Given the description of an element on the screen output the (x, y) to click on. 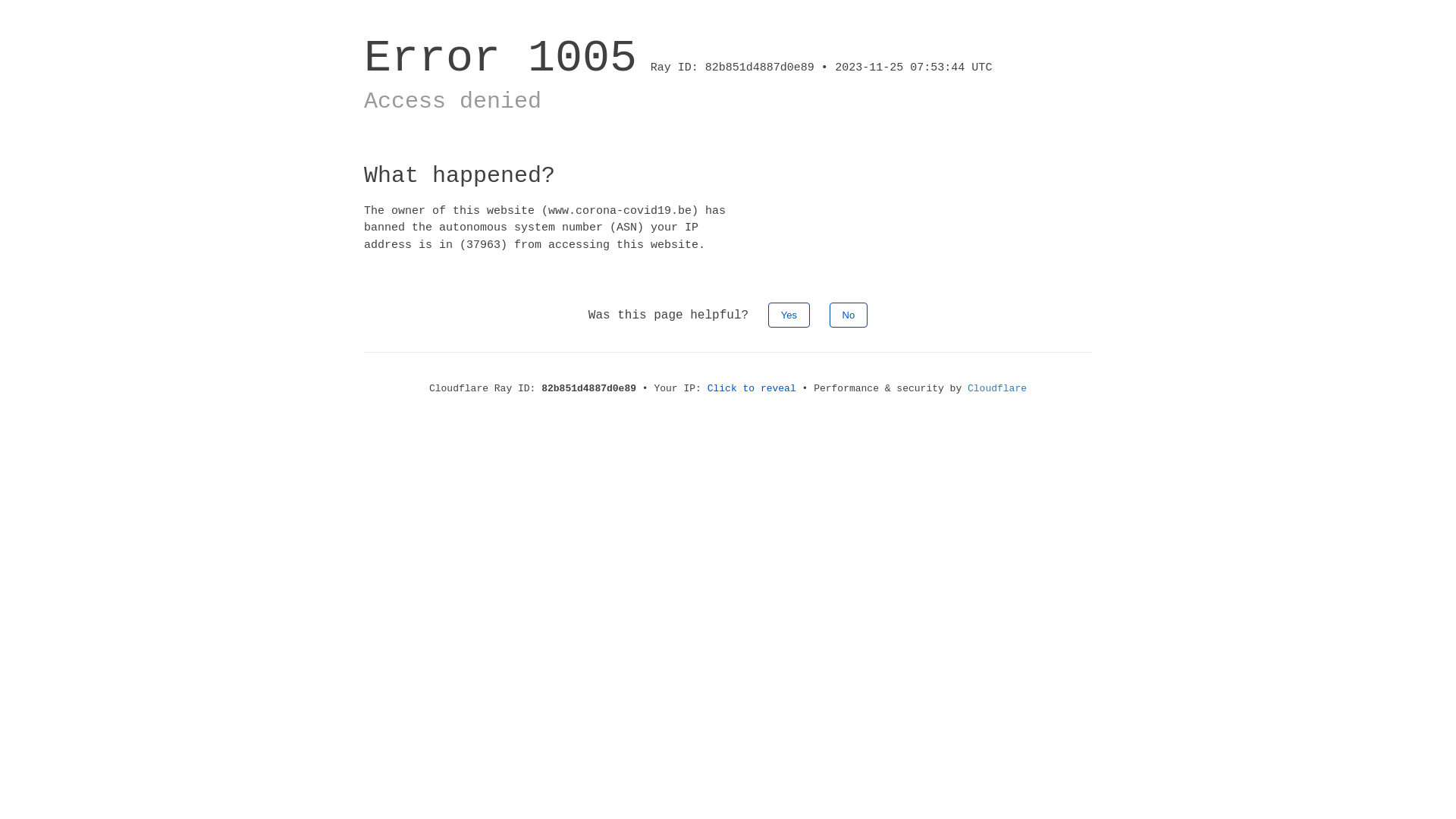
Click to reveal Element type: text (751, 388)
Cloudflare Element type: text (996, 388)
Yes Element type: text (788, 314)
No Element type: text (848, 314)
